Given the description of an element on the screen output the (x, y) to click on. 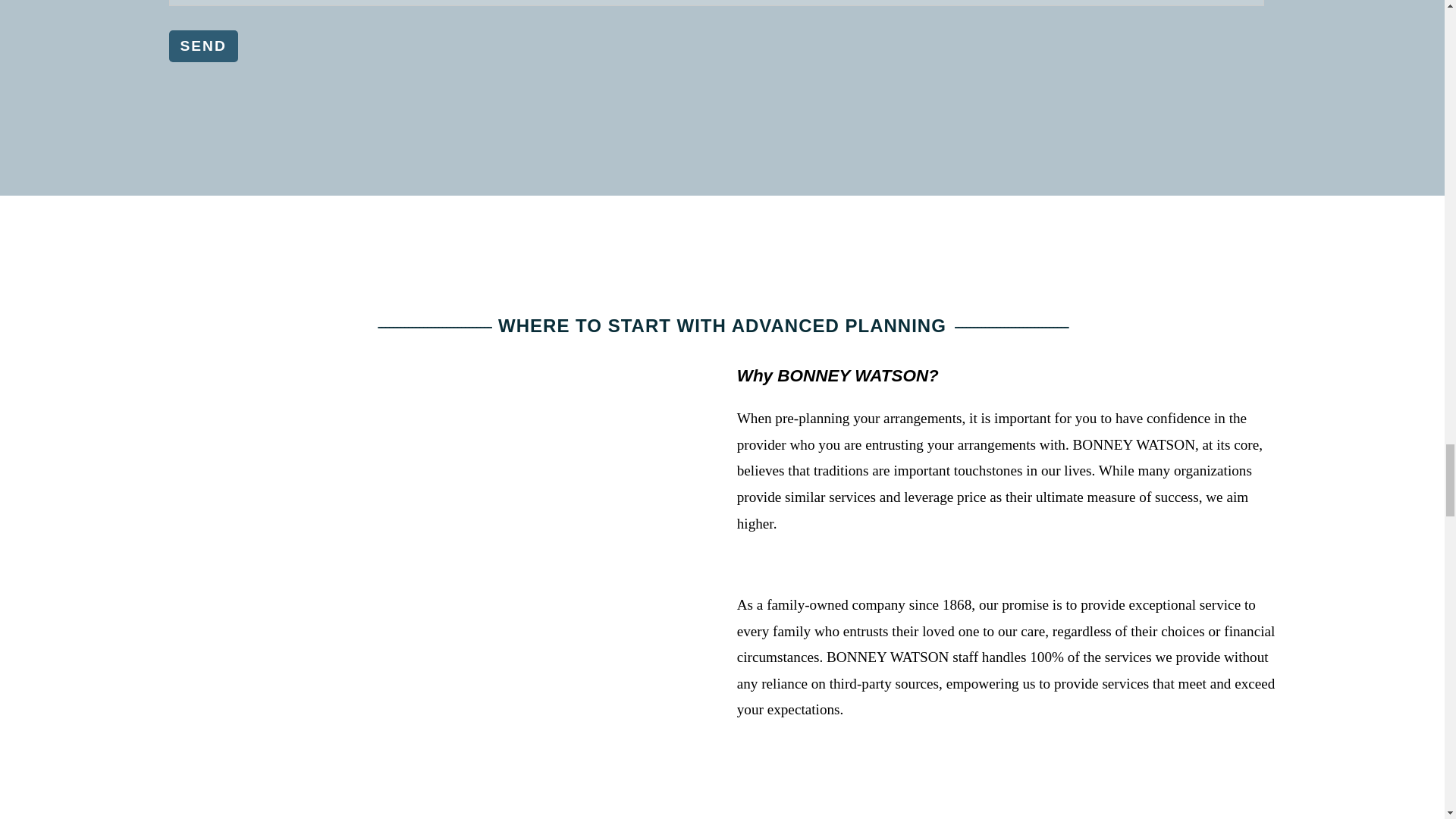
Send (202, 46)
